Given the description of an element on the screen output the (x, y) to click on. 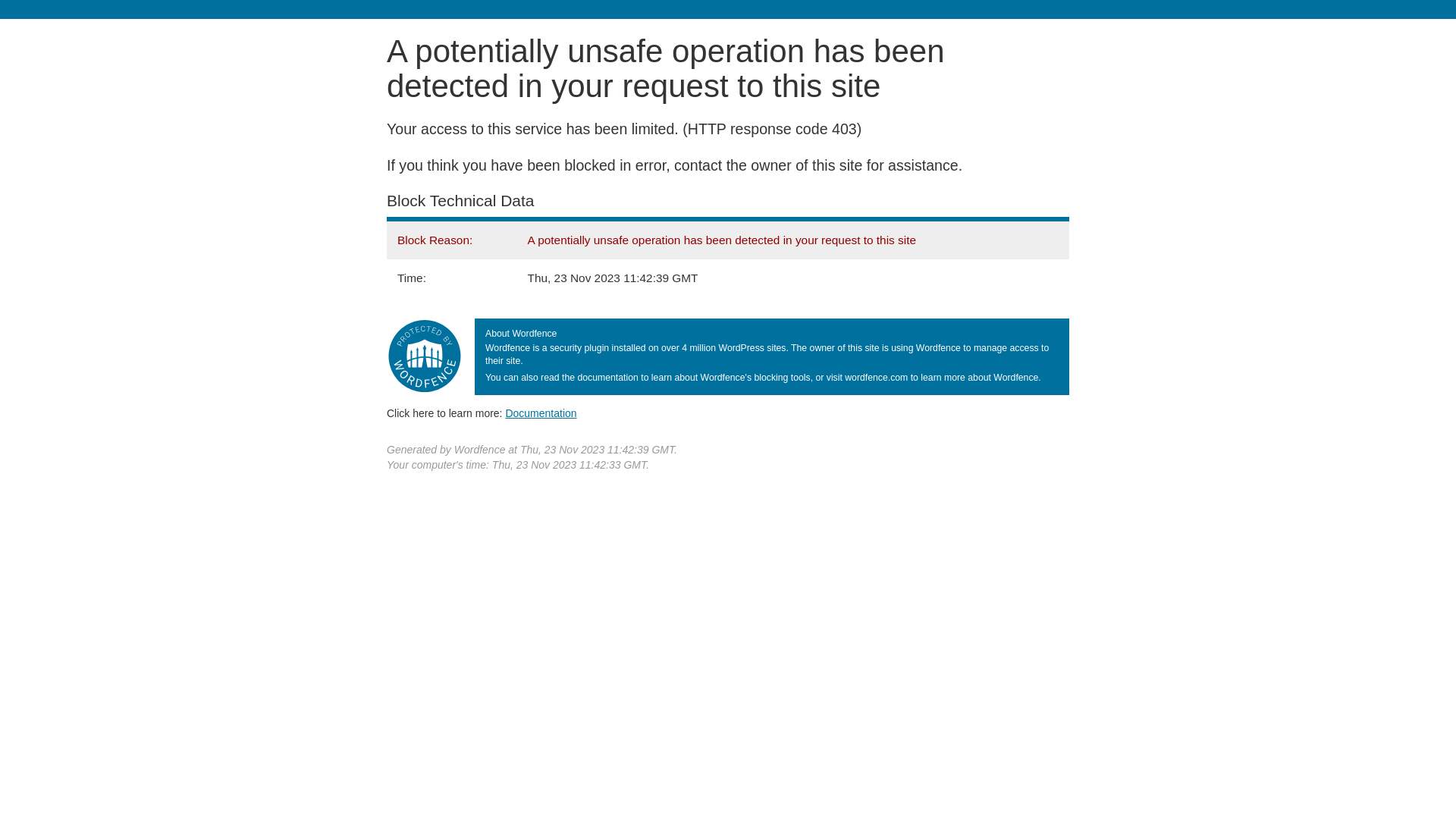
Documentation Element type: text (540, 413)
